Given the description of an element on the screen output the (x, y) to click on. 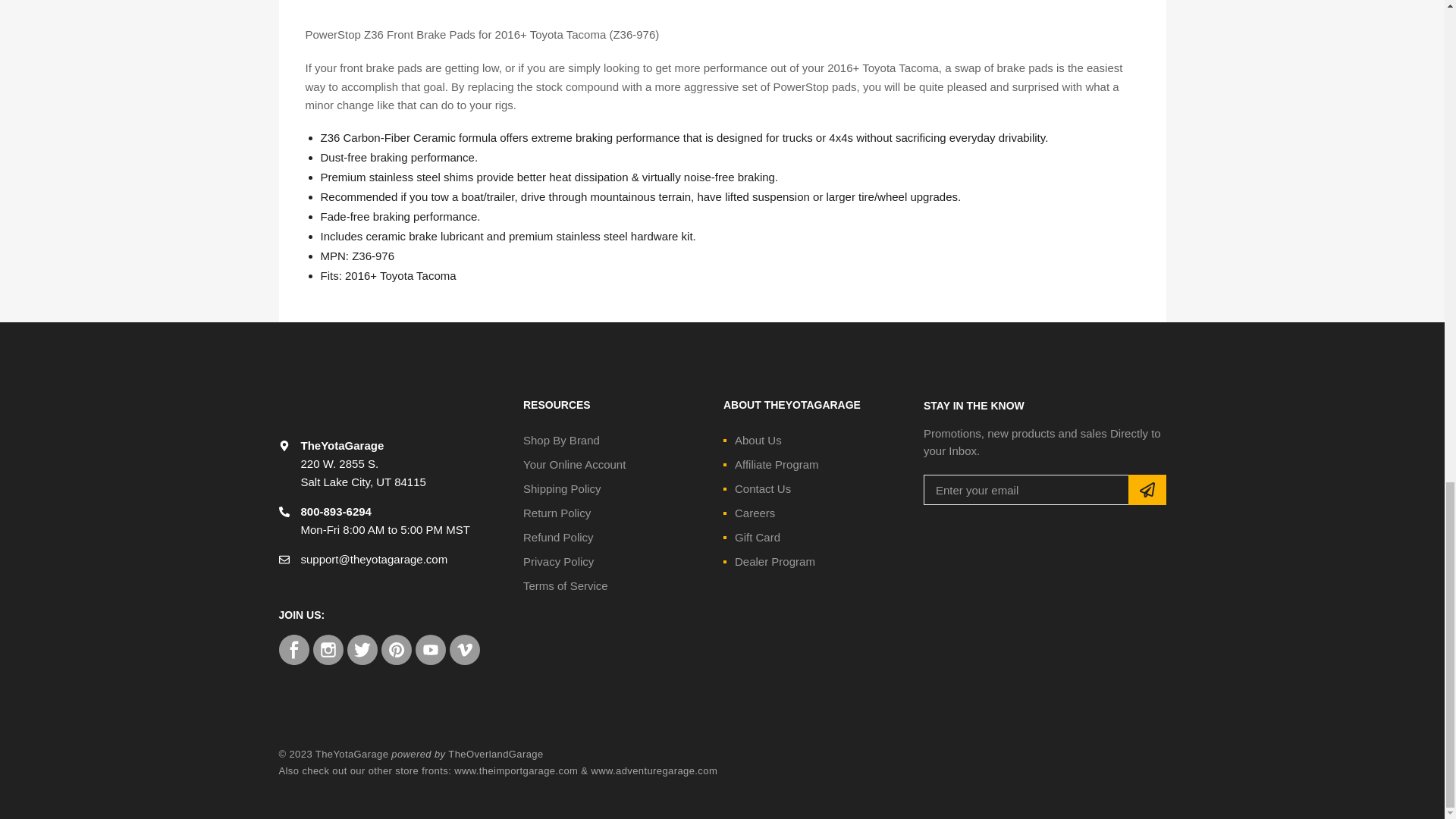
Pinterest (395, 649)
Twitter (362, 649)
Facebook (293, 649)
Instagram (327, 649)
